Given the description of an element on the screen output the (x, y) to click on. 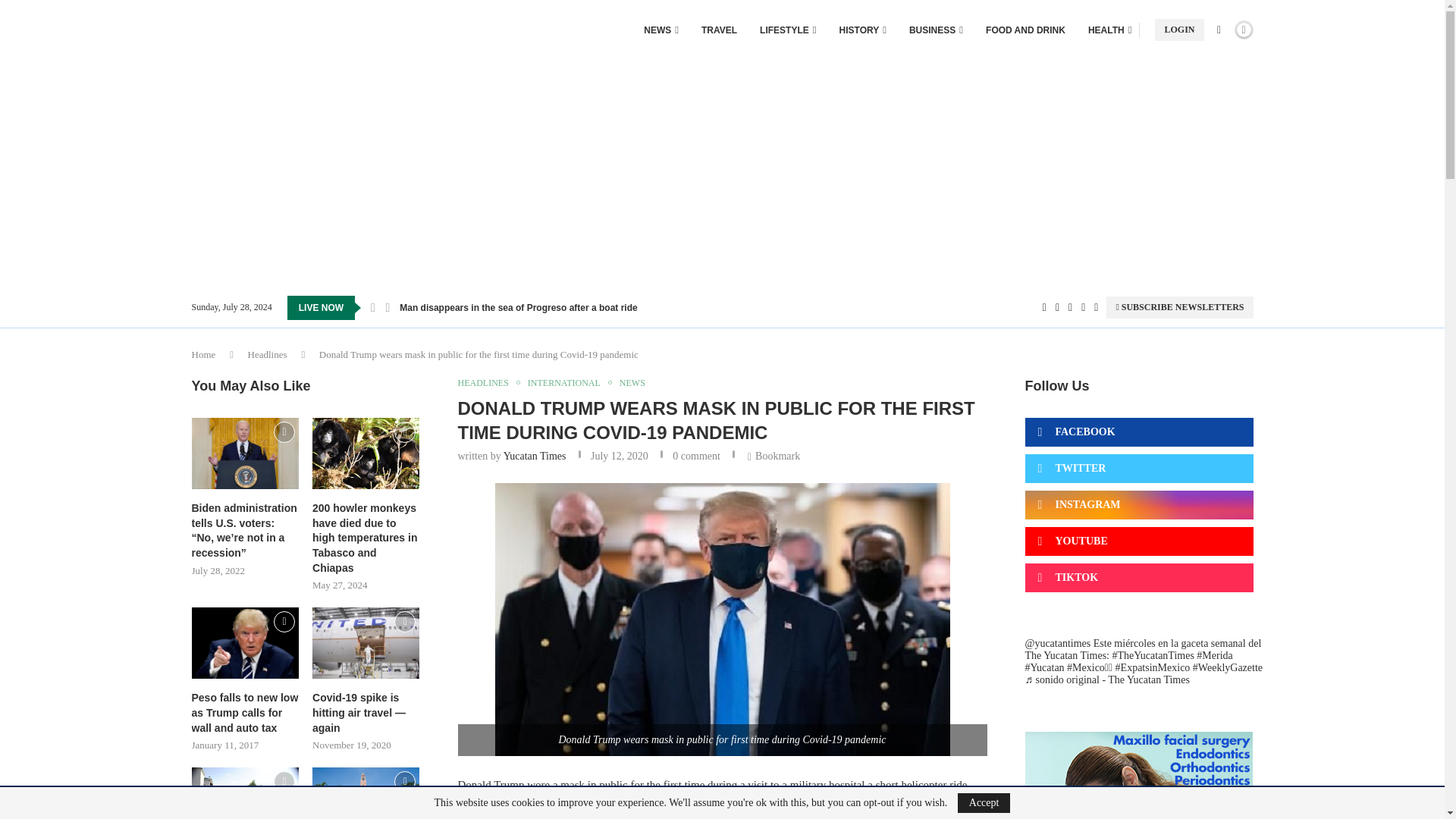
trump mask (722, 619)
NEWS (660, 30)
TRAVEL (718, 30)
LIFESTYLE (787, 30)
